Given the description of an element on the screen output the (x, y) to click on. 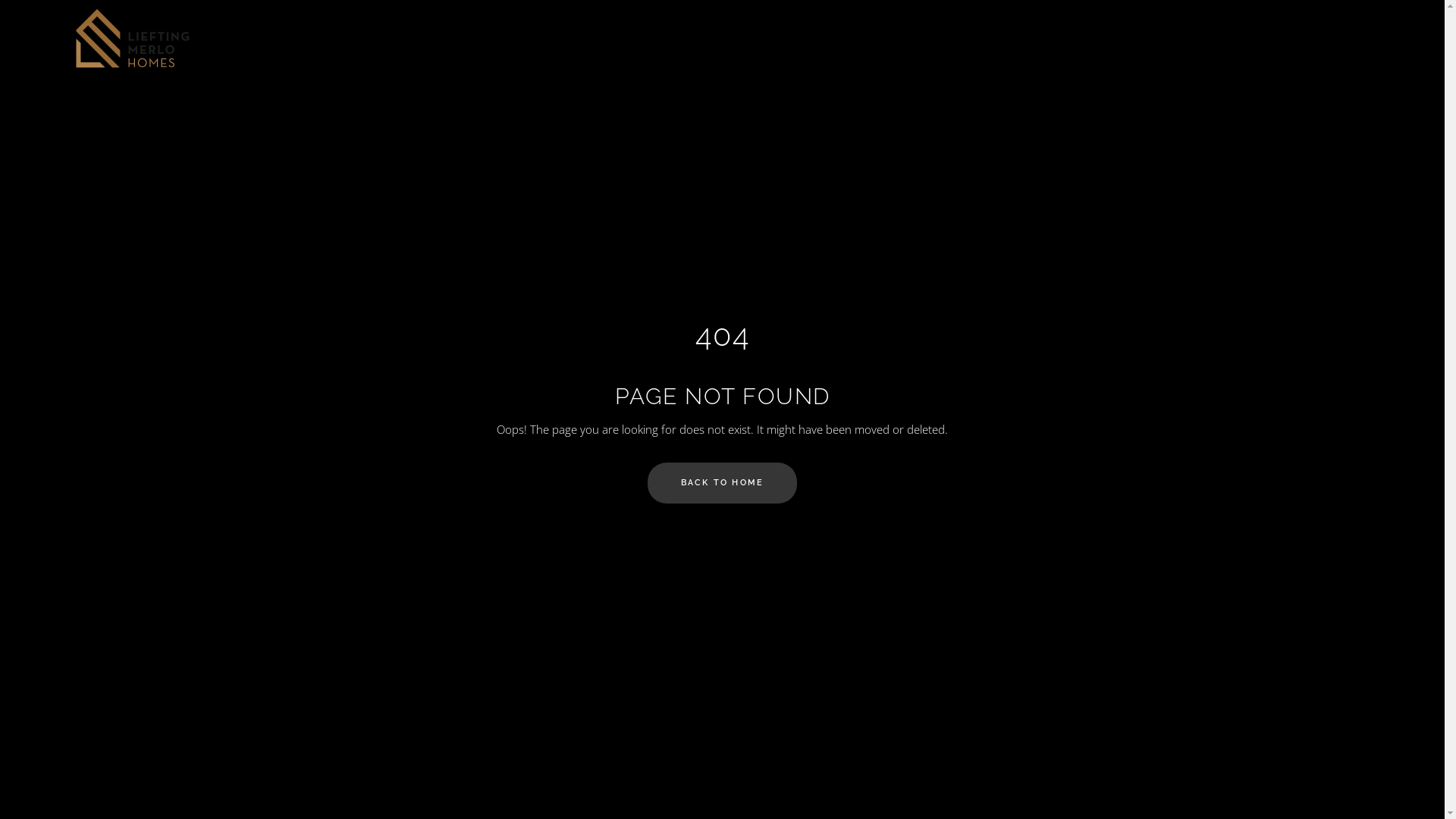
BACK TO HOME Element type: text (722, 482)
